Given the description of an element on the screen output the (x, y) to click on. 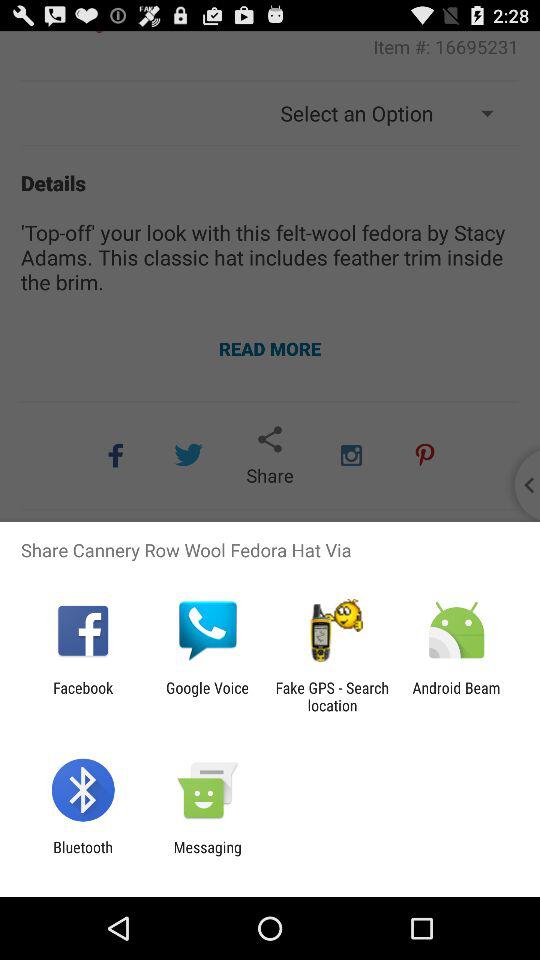
open google voice (207, 696)
